Given the description of an element on the screen output the (x, y) to click on. 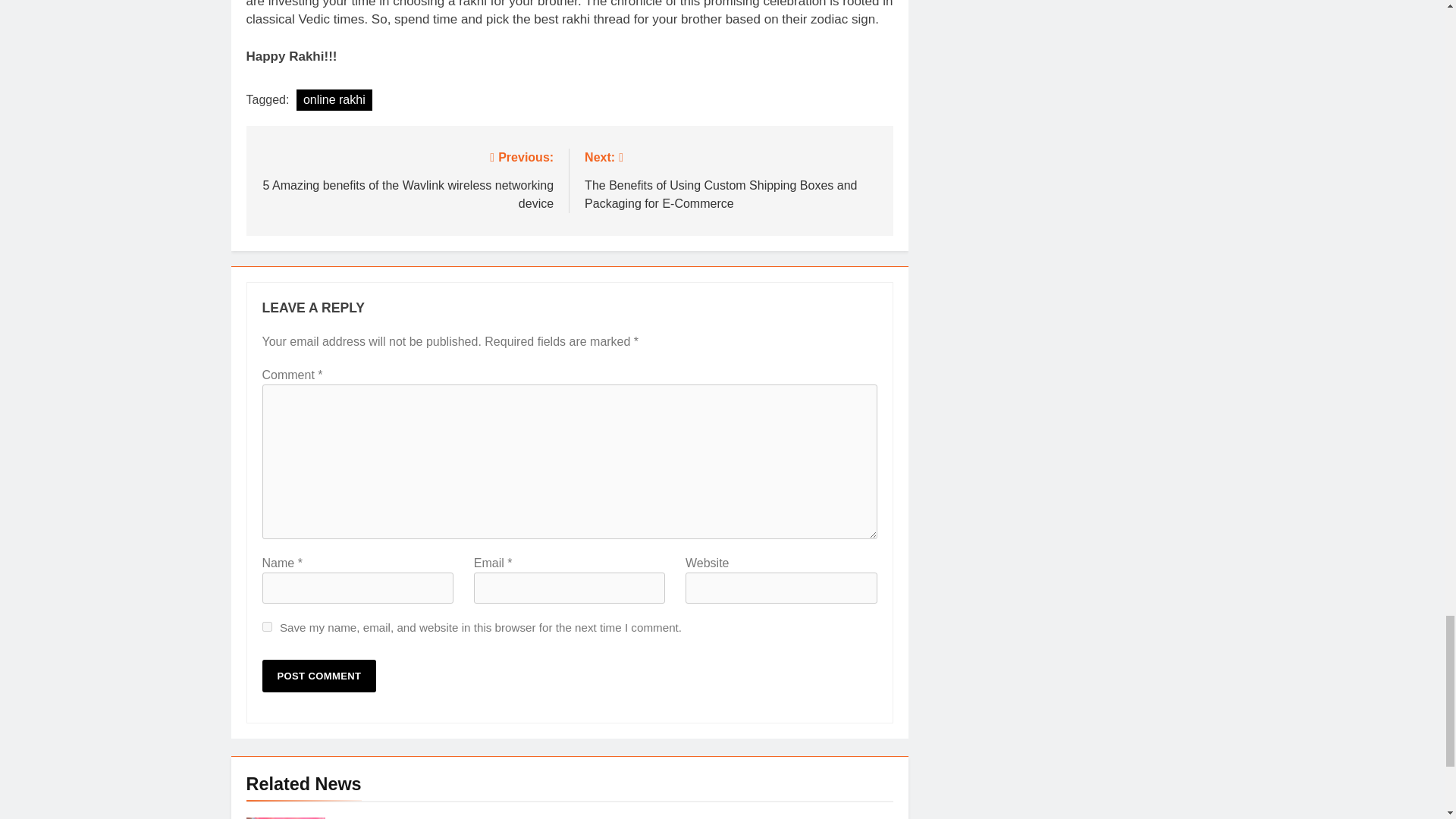
yes (267, 626)
Post Comment (319, 676)
